Given the description of an element on the screen output the (x, y) to click on. 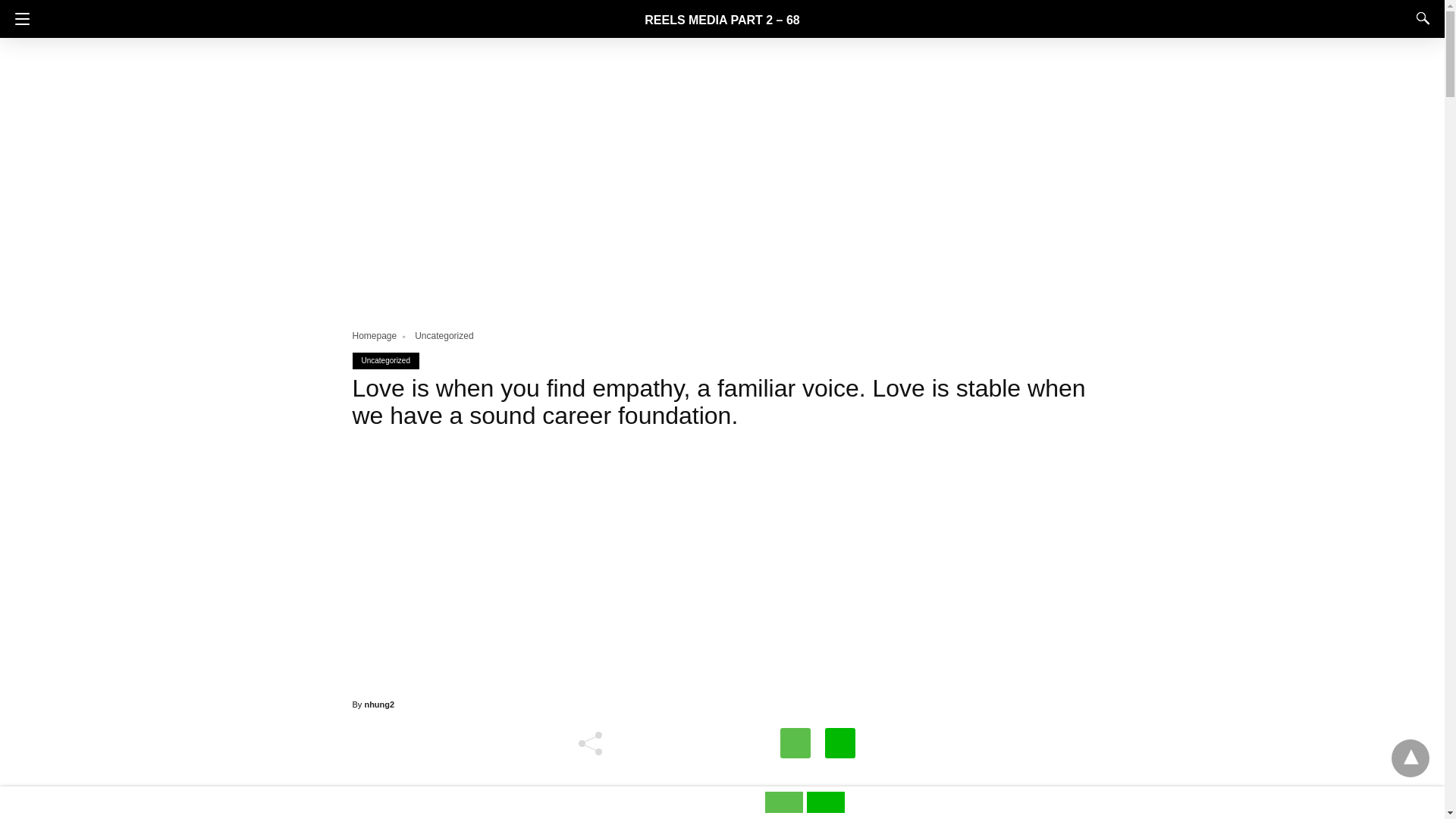
nhung2 (379, 704)
line share (825, 808)
back to top (1410, 758)
Uncategorized (443, 335)
whatsapp share (785, 808)
Homepage (381, 335)
Uncategorized (443, 335)
Uncategorized (384, 359)
Homepage (381, 335)
